Given the description of an element on the screen output the (x, y) to click on. 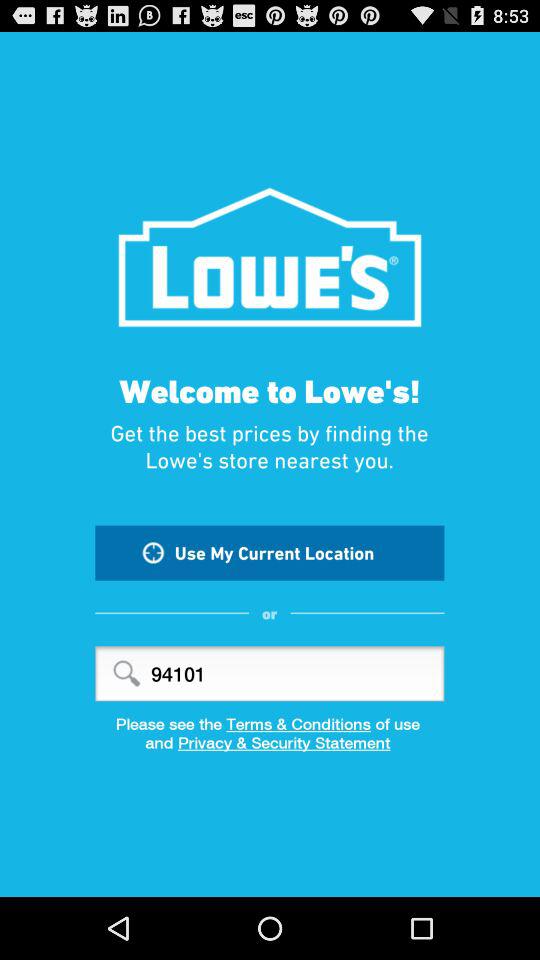
jump to the please see the icon (270, 723)
